Given the description of an element on the screen output the (x, y) to click on. 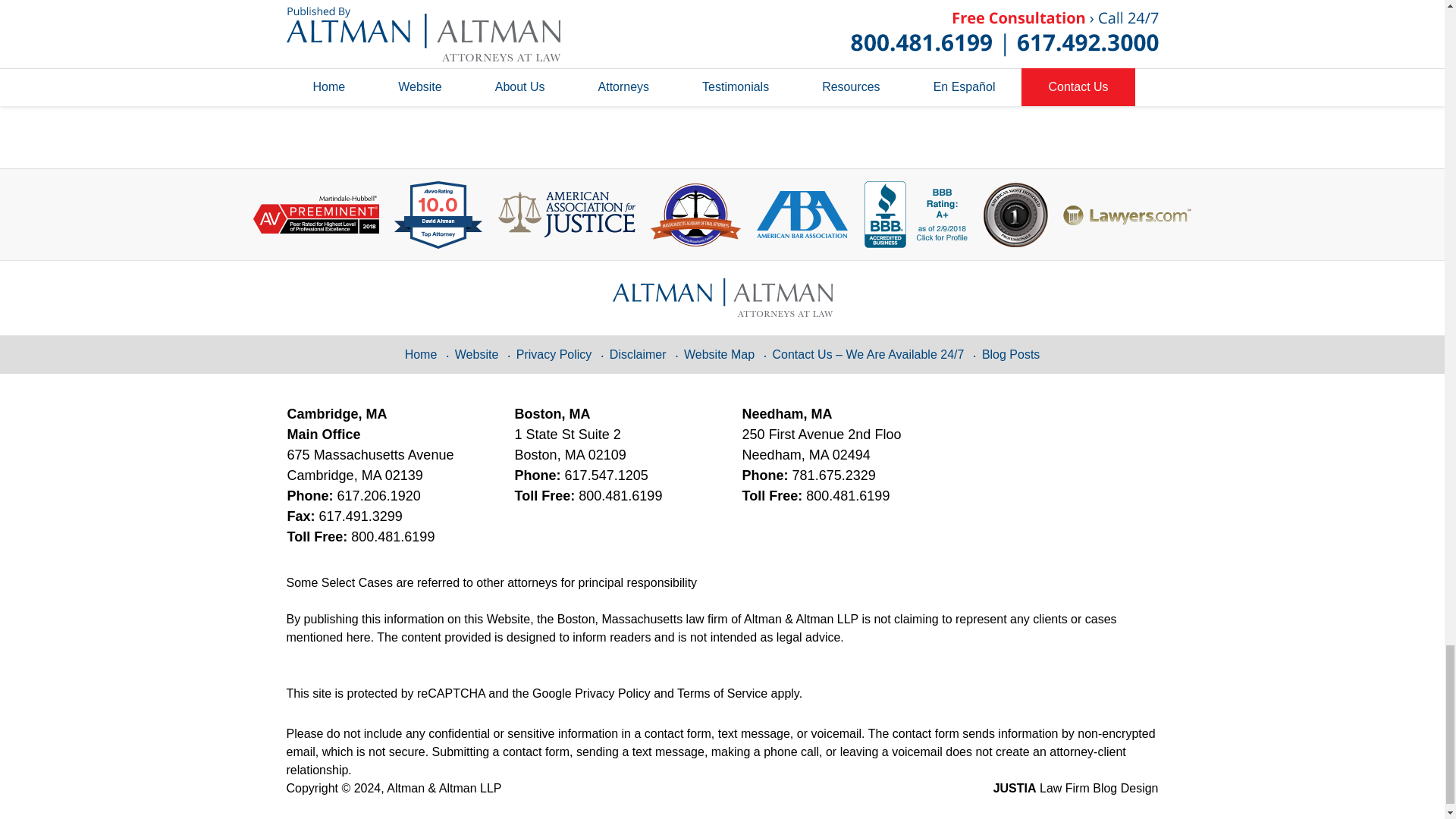
Assault and Battery (368, 6)
Murder (482, 6)
View all posts in Murder (482, 6)
Criminal Law (438, 6)
Sexual Crimes (547, 6)
Home (372, 72)
View all posts in Sexual Crimes (547, 6)
View all posts in Criminal Law (438, 6)
View all posts in Assault and Battery (368, 6)
